Given the description of an element on the screen output the (x, y) to click on. 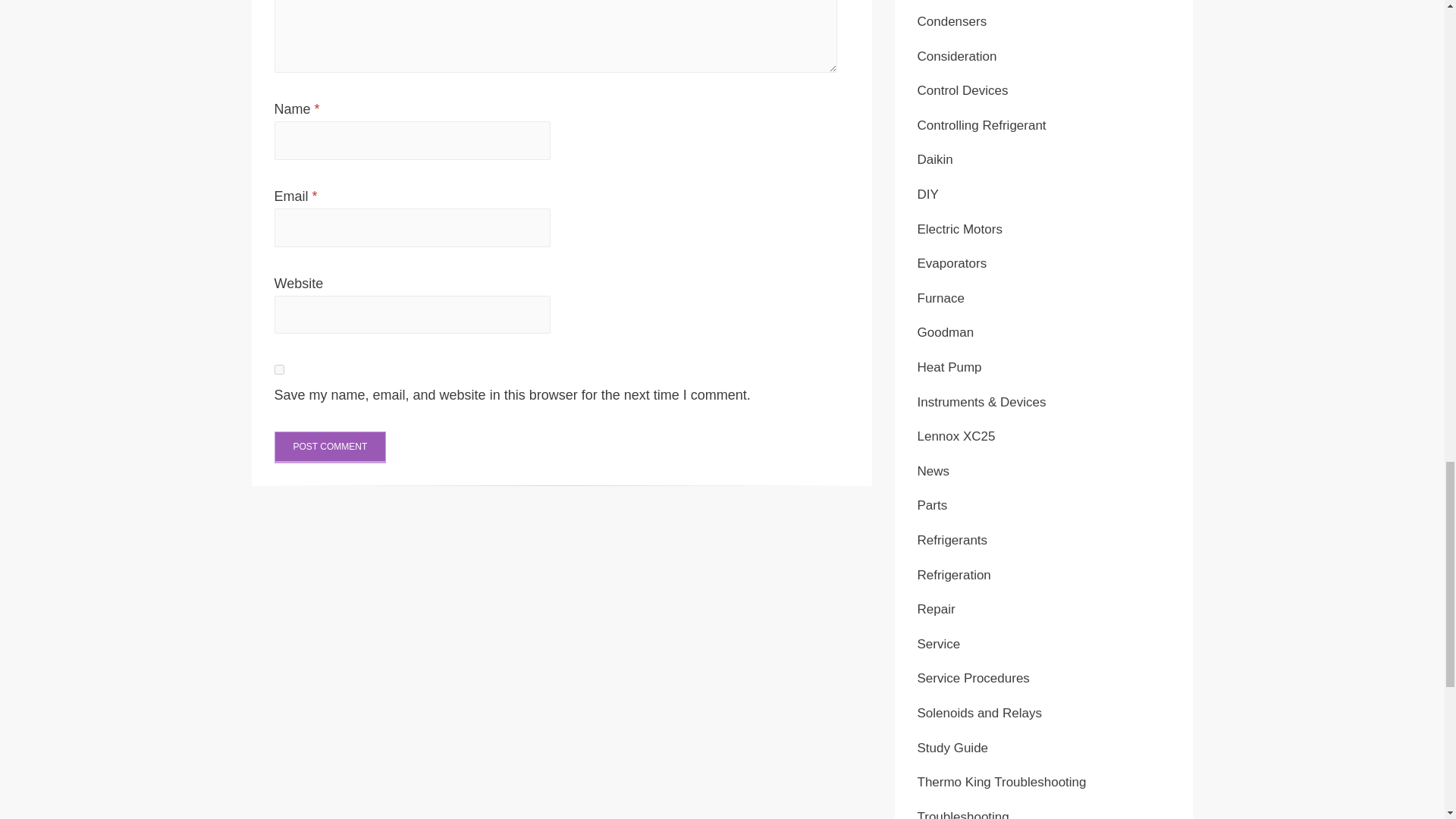
yes (279, 369)
Furnace (940, 298)
Daikin (935, 159)
Control Devices (963, 90)
Lennox XC25 (956, 436)
Goodman (945, 332)
Heat Pump (949, 367)
Post Comment (331, 447)
Consideration (957, 56)
News (933, 471)
Condensers (952, 21)
DIY (928, 194)
Electric Motors (960, 228)
Controlling Refrigerant (981, 124)
Evaporators (952, 263)
